Given the description of an element on the screen output the (x, y) to click on. 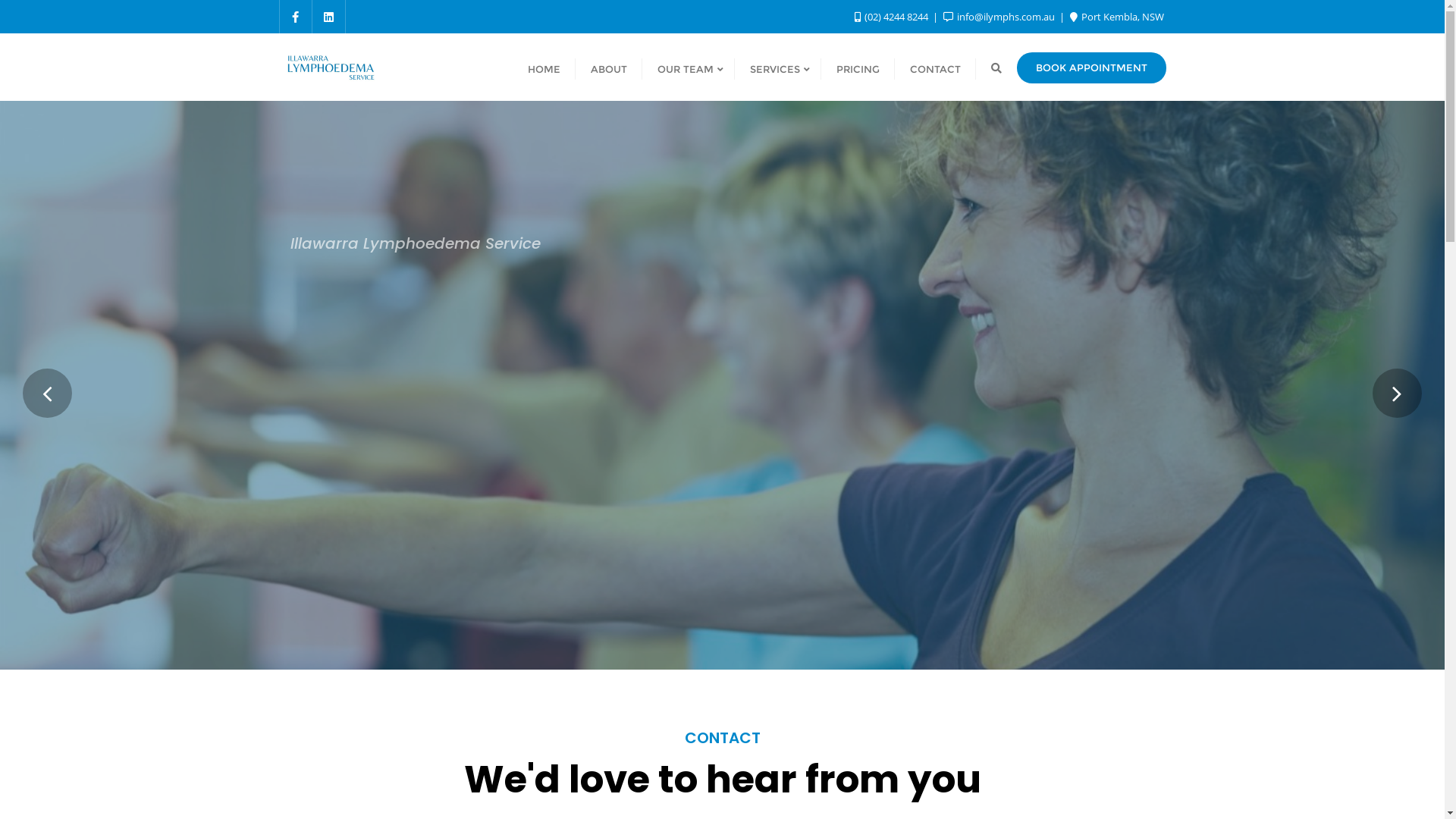
Contact Us Element type: text (566, 417)
HOME Element type: text (543, 67)
BOOK APPOINTMENT Element type: text (1090, 67)
SERVICES Element type: text (777, 67)
OUR TEAM Element type: text (687, 67)
CONTACT Element type: text (934, 67)
Contact Us Element type: text (566, 451)
Make An Appointment Element type: text (390, 451)
ABOUT Element type: text (607, 67)
Make An Appointment Element type: text (390, 417)
PRICING Element type: text (857, 67)
